Given the description of an element on the screen output the (x, y) to click on. 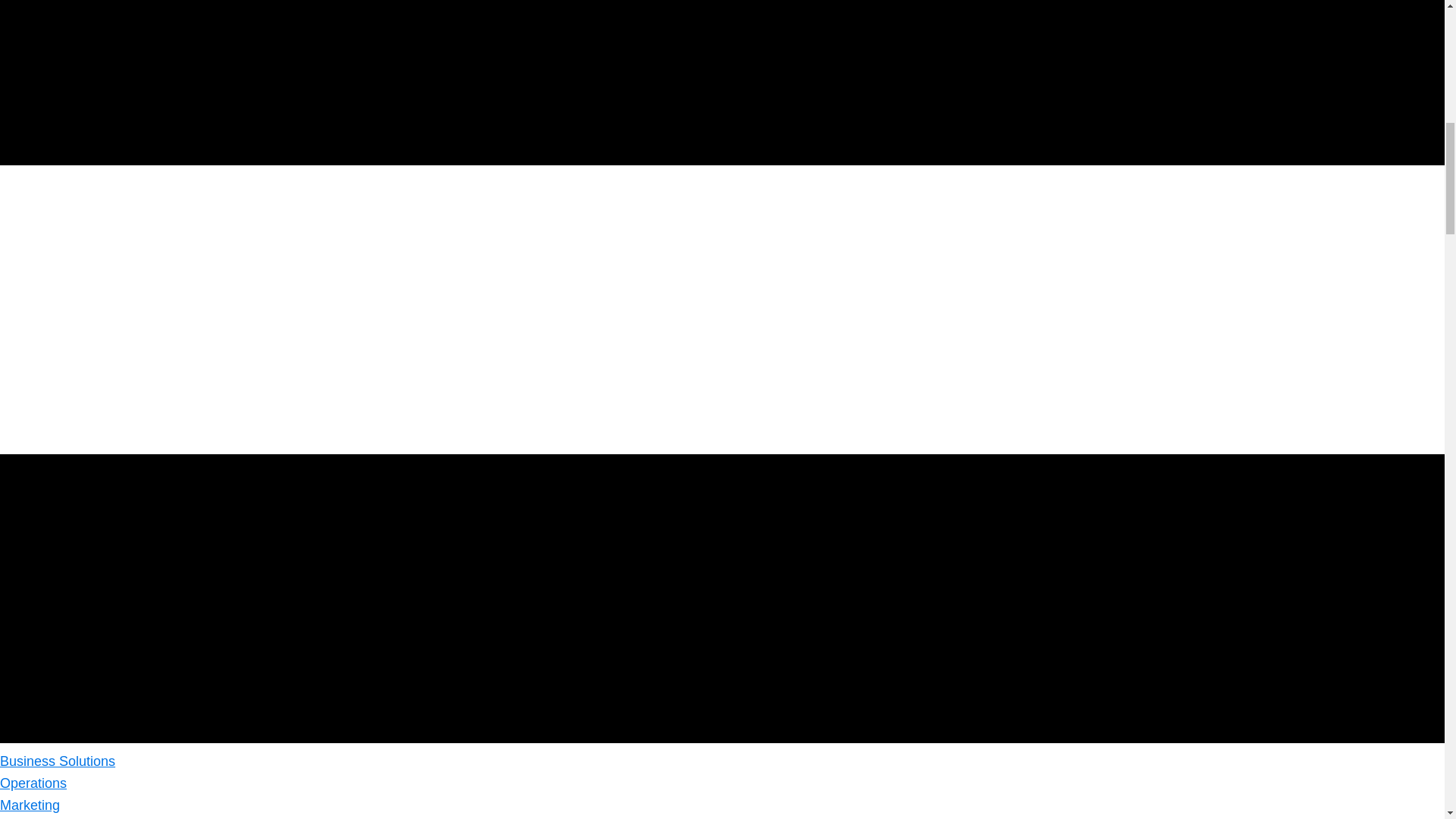
Marketing (29, 805)
Operations (33, 783)
Business Solutions (57, 761)
